Given the description of an element on the screen output the (x, y) to click on. 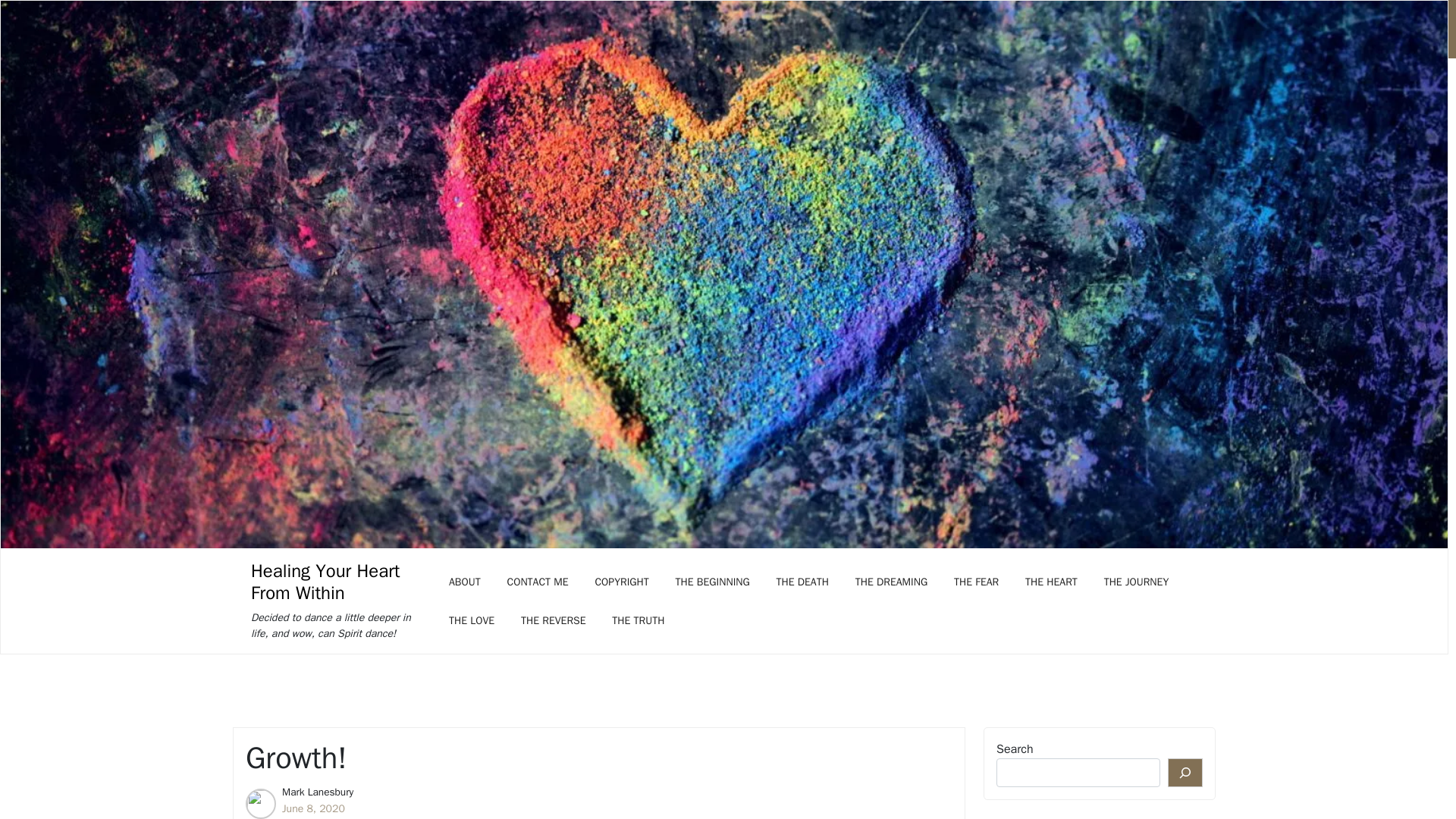
Healing Your Heart From Within (337, 582)
THE REVERSE (552, 619)
THE DEATH (802, 581)
June 8, 2020 (313, 808)
THE DREAMING (891, 581)
THE BEGINNING (712, 581)
Mark Lanesbury (317, 792)
THE LOVE (471, 619)
COPYRIGHT (621, 581)
THE FEAR (976, 581)
